Given the description of an element on the screen output the (x, y) to click on. 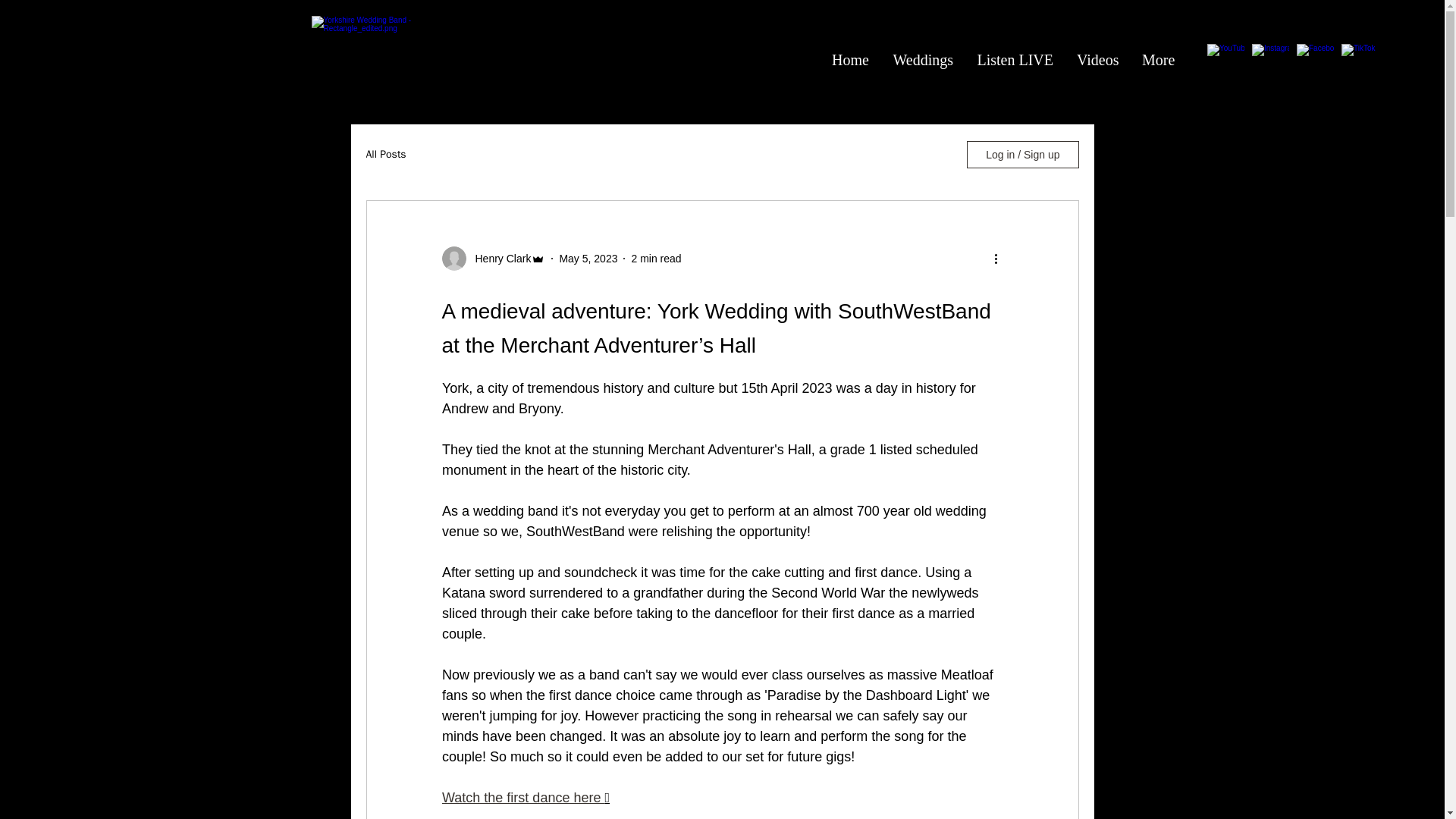
Watch the first dance here  (522, 797)
Home (850, 59)
2 min read (655, 257)
Weddings (921, 59)
May 5, 2023 (588, 257)
Henry Clark (498, 258)
Listen LIVE (1014, 59)
All Posts (385, 154)
Videos (1097, 59)
